Given the description of an element on the screen output the (x, y) to click on. 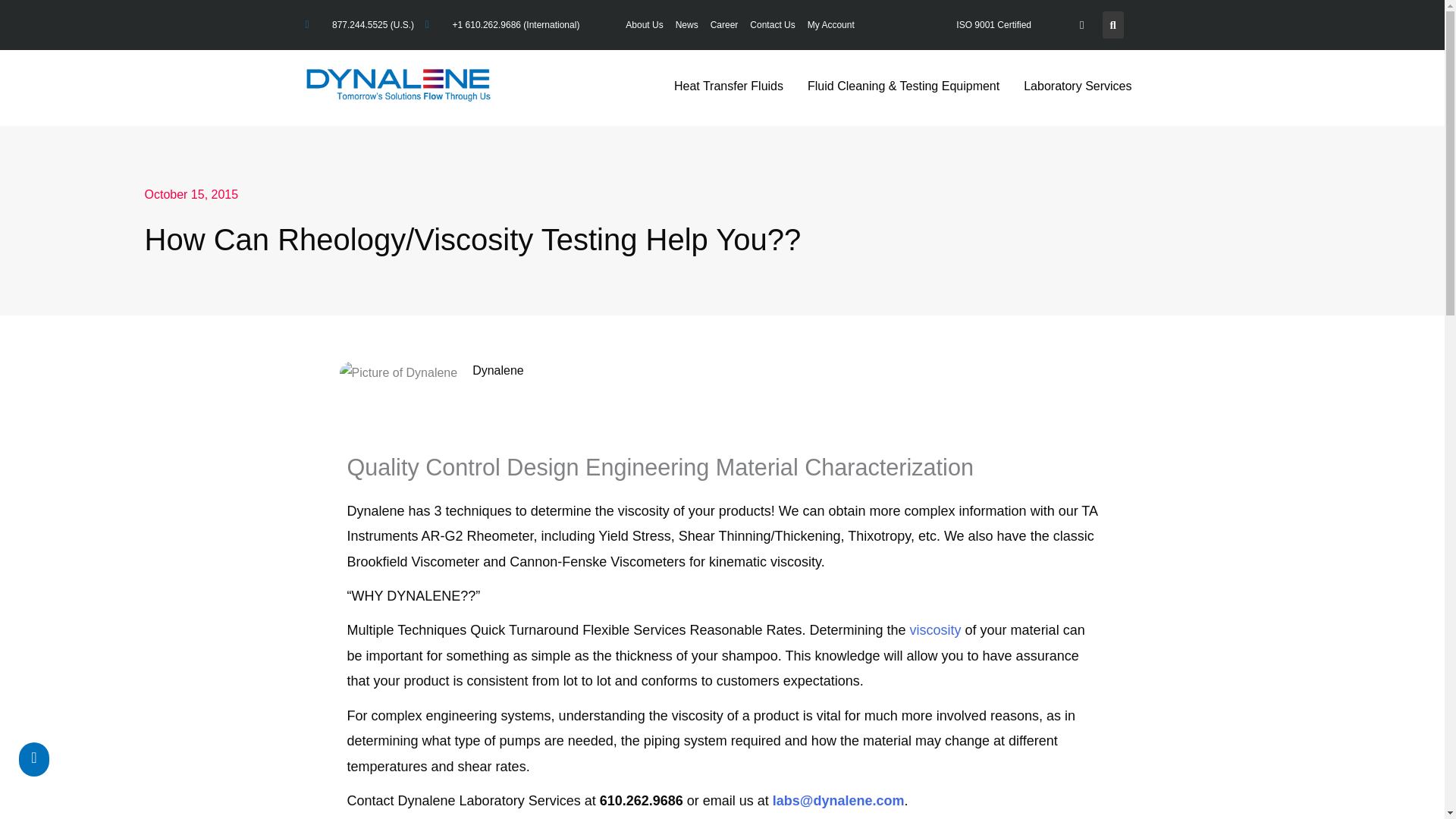
My Account (831, 24)
Laboratory Services (1077, 86)
News (686, 24)
Cart (1081, 24)
About Us (644, 24)
ISO 9001 Certified (993, 24)
Heat Transfer Fluids (728, 86)
Contact Us (772, 24)
Career (724, 24)
